Given the description of an element on the screen output the (x, y) to click on. 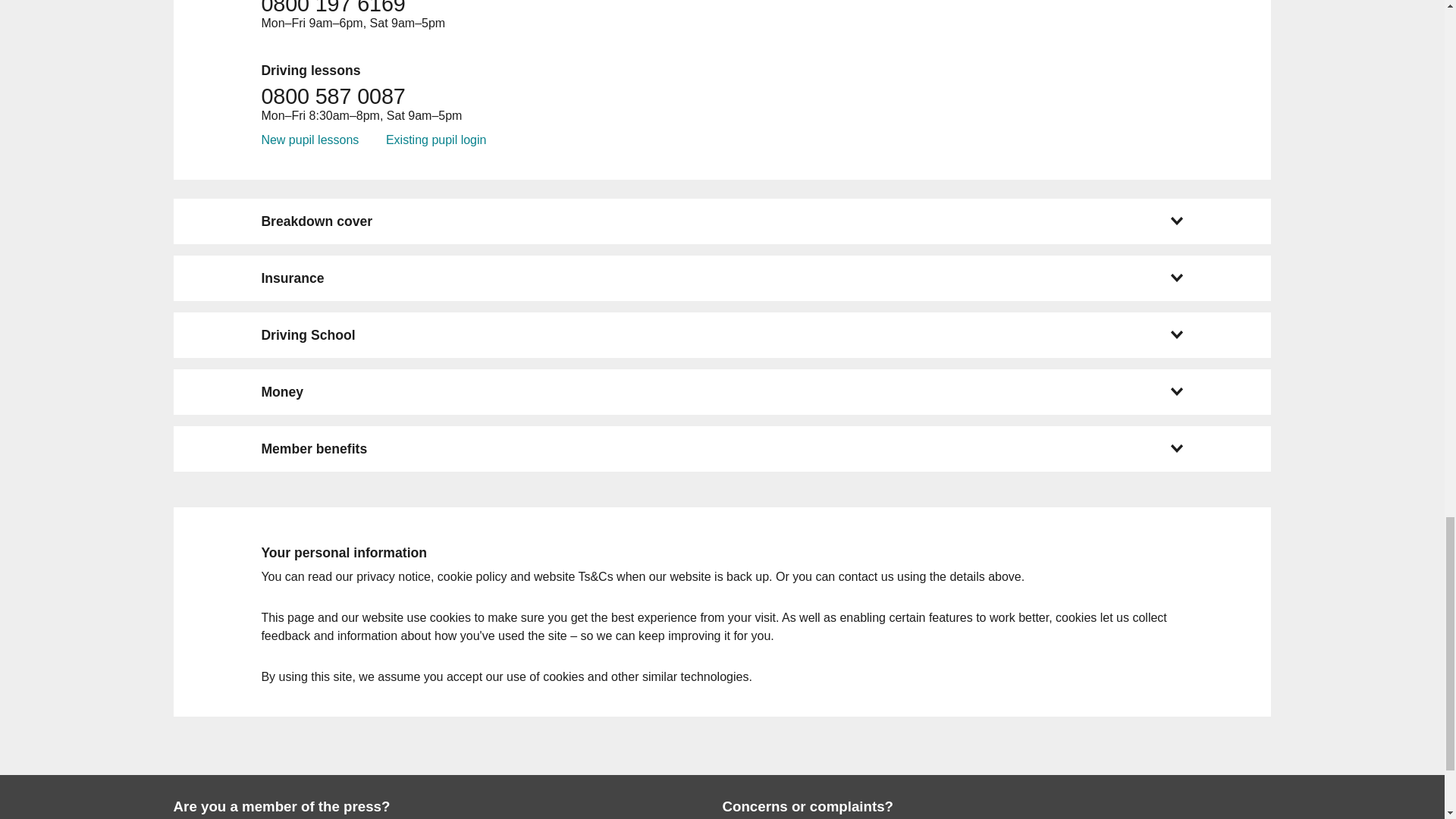
New pupil lessons (309, 140)
Existing pupil login (435, 140)
